Given the description of an element on the screen output the (x, y) to click on. 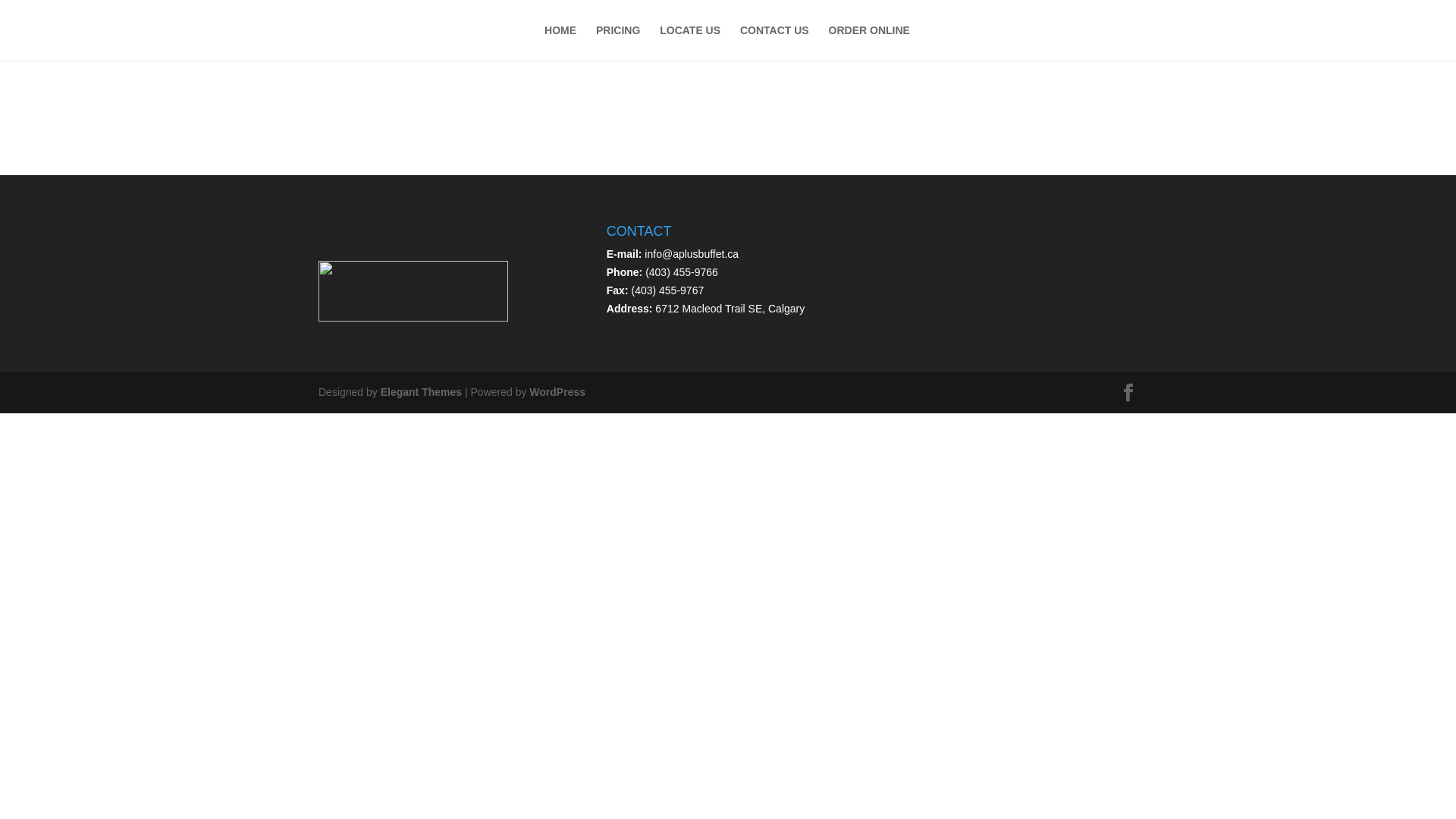
LOCATE US Element type: text (689, 42)
CONTACT US Element type: text (774, 42)
WordPress Element type: text (557, 391)
PRICING Element type: text (618, 42)
ORDER ONLINE Element type: text (869, 42)
HOME Element type: text (560, 42)
Elegant Themes Element type: text (420, 391)
